Given the description of an element on the screen output the (x, y) to click on. 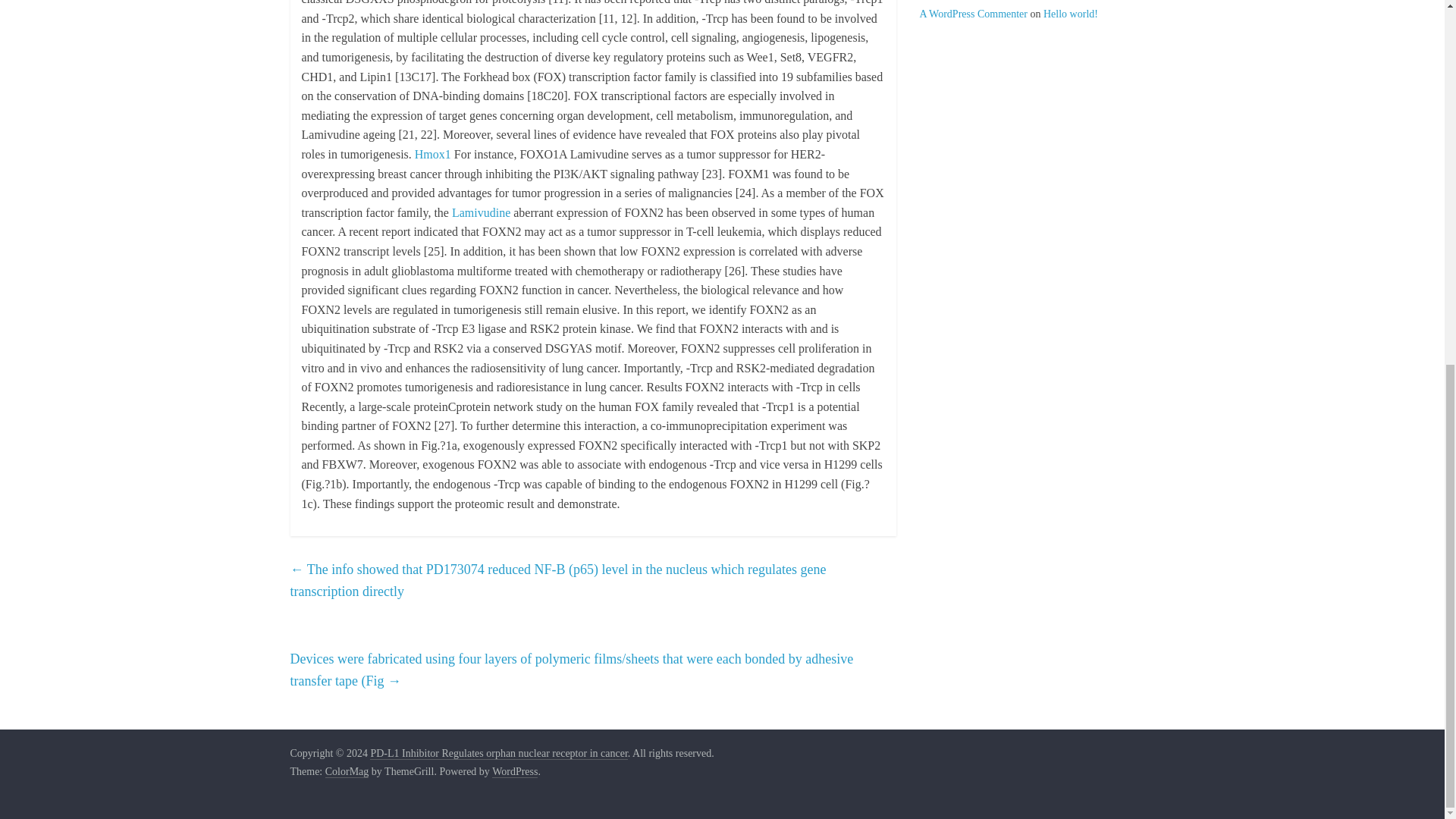
A WordPress Commenter (972, 13)
ColorMag (346, 771)
Lamivudine (481, 212)
PD-L1 Inhibitor Regulates orphan nuclear receptor in cancer (498, 753)
ColorMag (346, 771)
WordPress (514, 771)
PD-L1 Inhibitor Regulates orphan nuclear receptor in cancer (498, 753)
WordPress (514, 771)
Hello world! (1070, 13)
Hmox1 (432, 154)
